Given the description of an element on the screen output the (x, y) to click on. 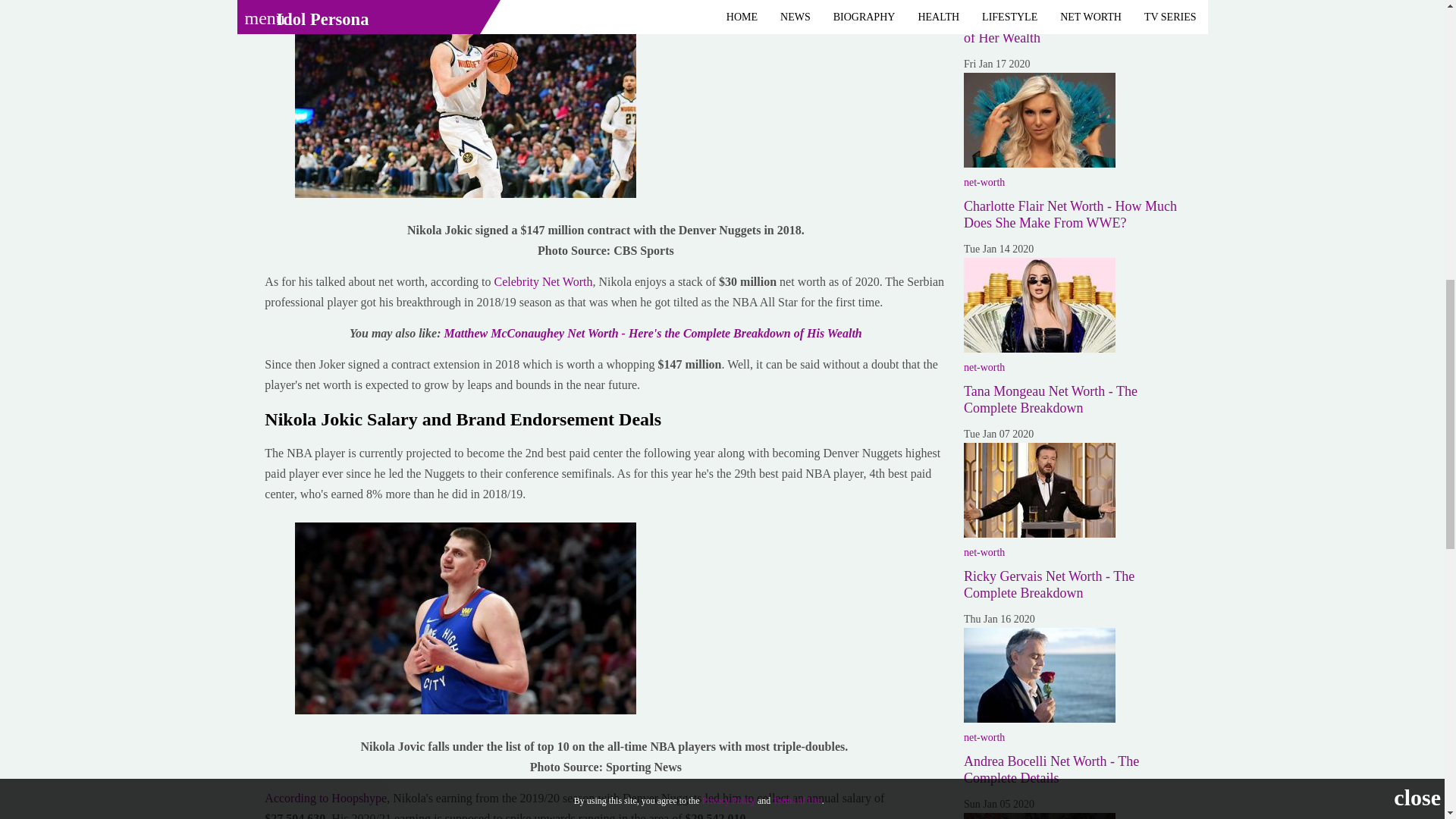
Tana Mongeau Net Worth - The Complete Breakdown (1039, 304)
Andrea Bocelli Net Worth - The Complete Details  (1039, 675)
According to Hoopshype (325, 797)
Tamela Mann Net Worth - Full Details of Her Wealth (1068, 29)
Andrea Bocelli Net Worth - The Complete Details  (1050, 769)
Ricky Gervais Net Worth - The Complete Breakdown (1039, 490)
Ricky Gervais Net Worth - The Complete Breakdown (1048, 584)
Tana Mongeau Net Worth - The Complete Breakdown (1050, 399)
